Given the description of an element on the screen output the (x, y) to click on. 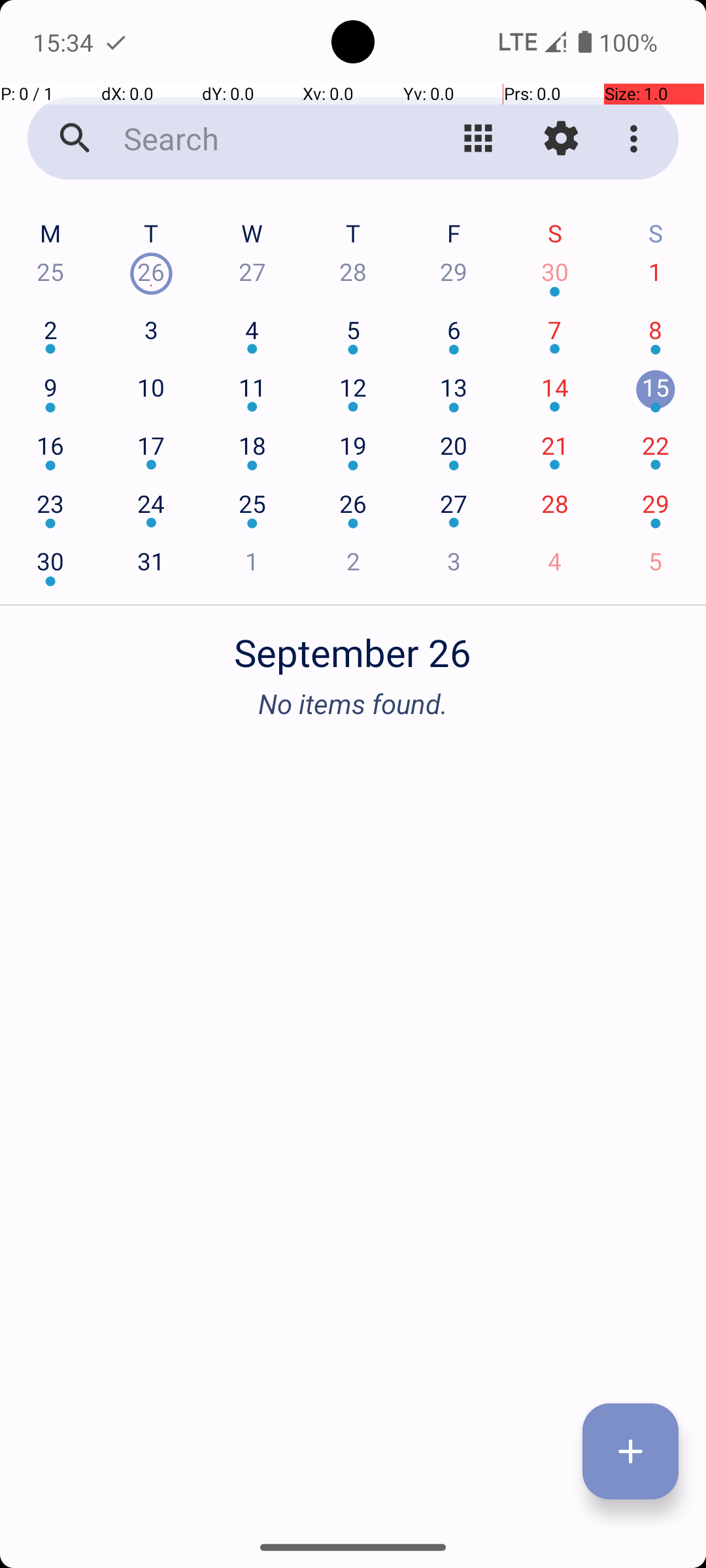
September 26 Element type: android.widget.TextView (352, 644)
